Given the description of an element on the screen output the (x, y) to click on. 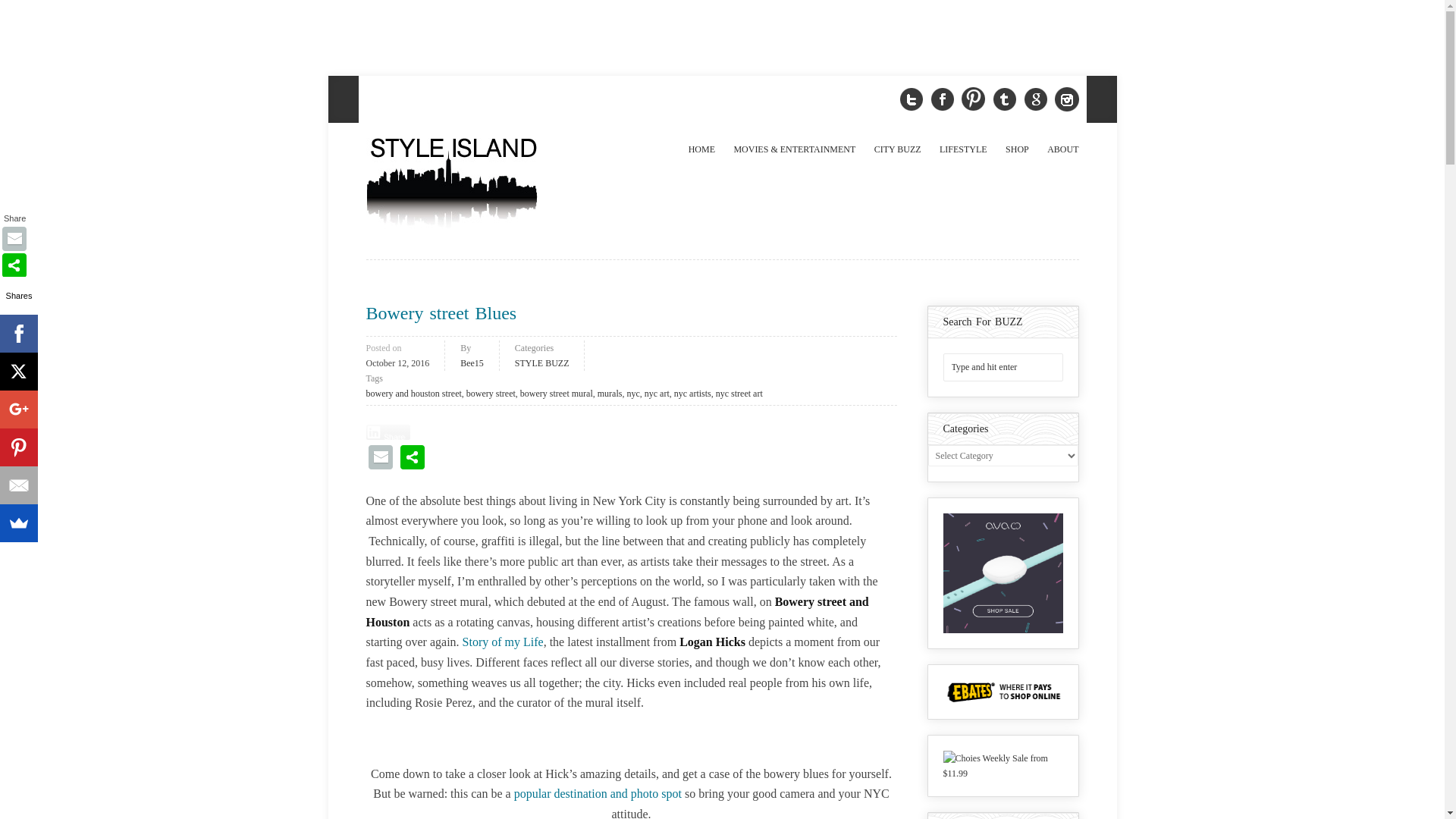
twitter (911, 99)
instagram (1066, 99)
bowery street mural (555, 393)
Type and hit enter (1002, 366)
CITY BUZZ (897, 149)
View all posts by Bee15 (471, 362)
HOME (701, 149)
Style Island (471, 183)
facebook (941, 99)
pinterest (972, 99)
bowery street (490, 393)
ABOUT (1060, 149)
bowery and houston street (413, 393)
SHOP (1016, 149)
murals (609, 393)
